Given the description of an element on the screen output the (x, y) to click on. 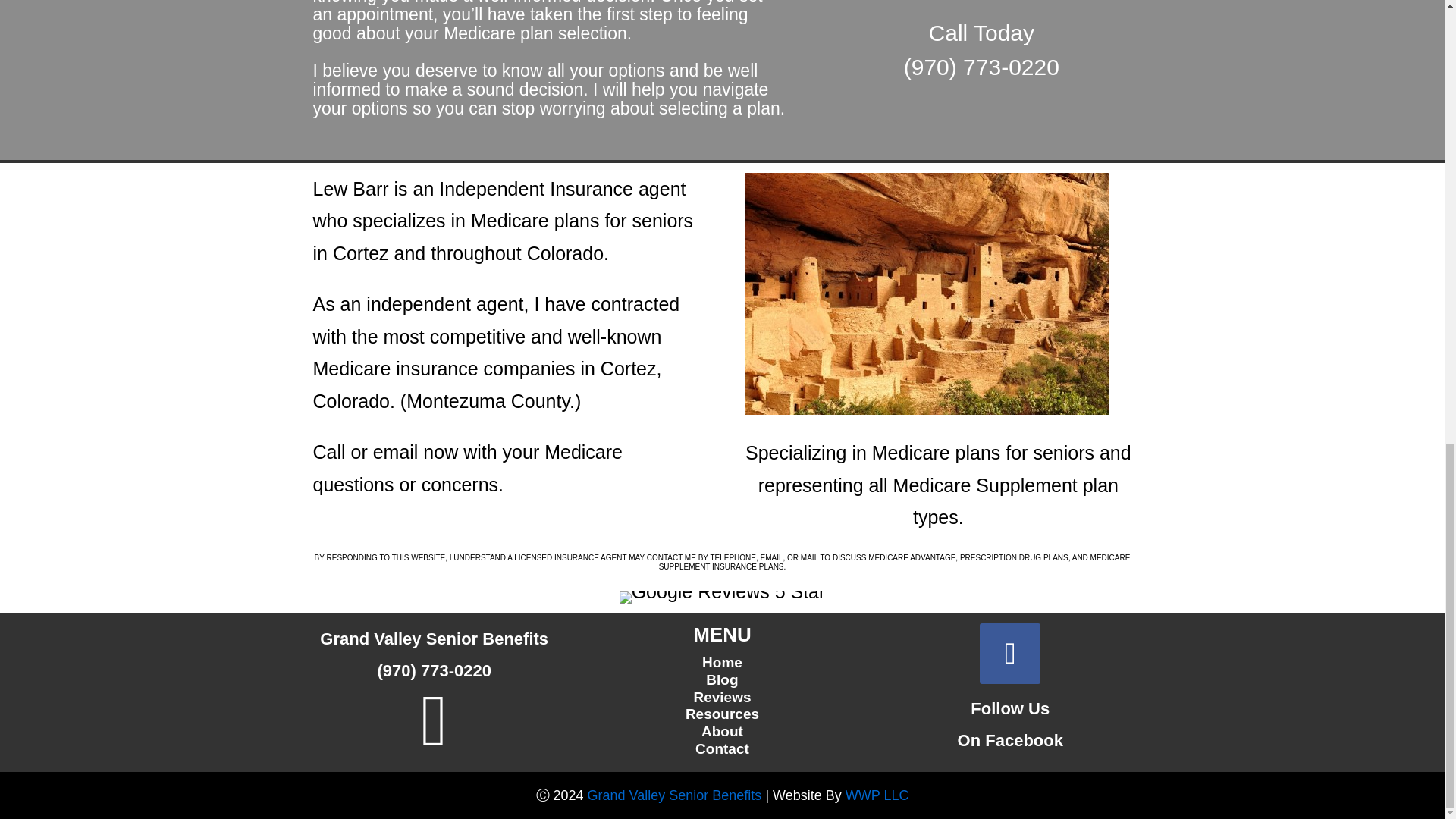
Resources (721, 713)
Blog (722, 679)
Google Reviews 5 Star (722, 597)
Reviews (722, 697)
Follow on Facebook (1010, 653)
Medicare Insurance Representative (674, 795)
About (721, 731)
Contact (722, 748)
Home (721, 662)
Grand Valley Senior Benefits (674, 795)
